Given the description of an element on the screen output the (x, y) to click on. 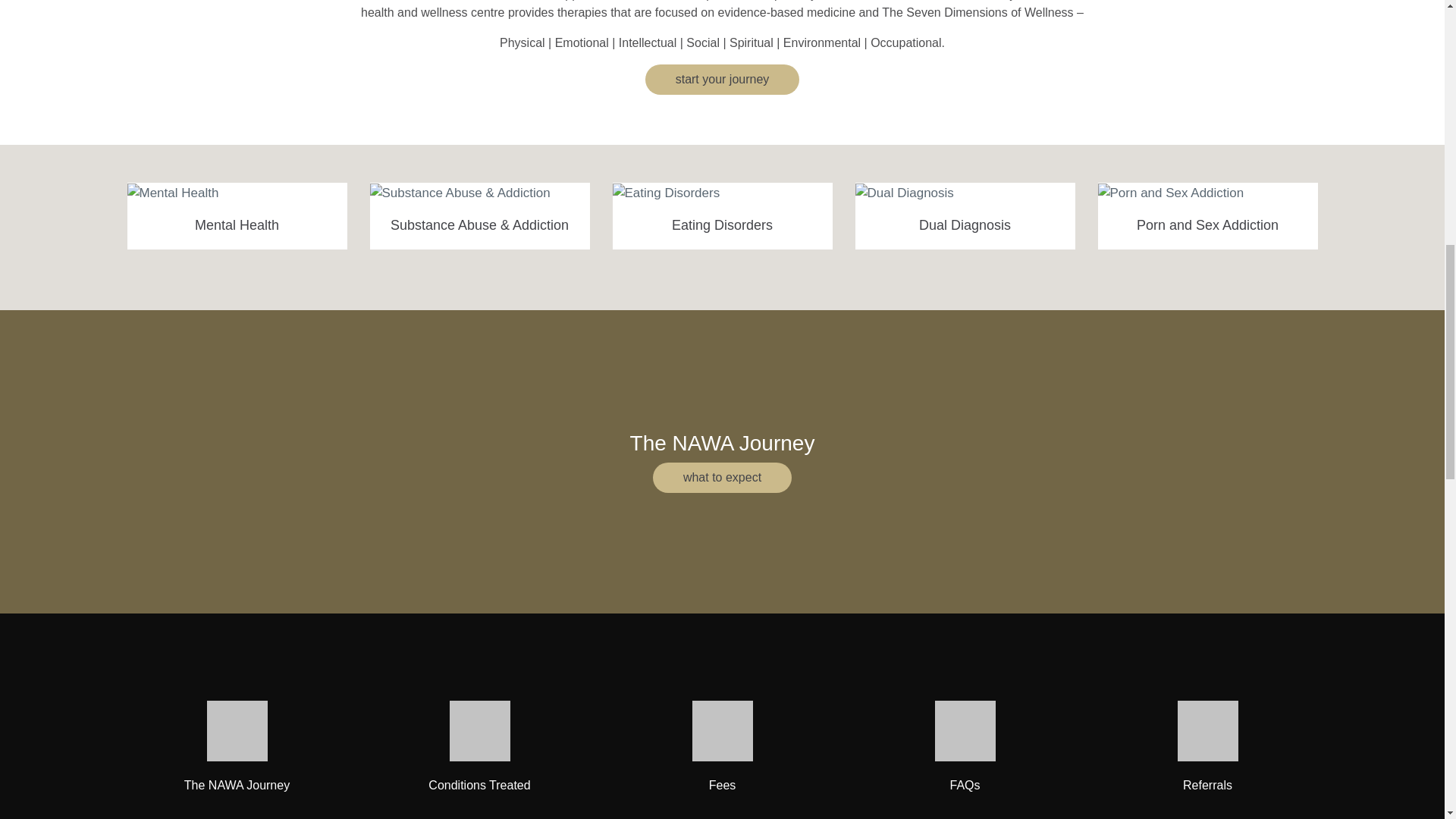
start your journey (722, 79)
